Given the description of an element on the screen output the (x, y) to click on. 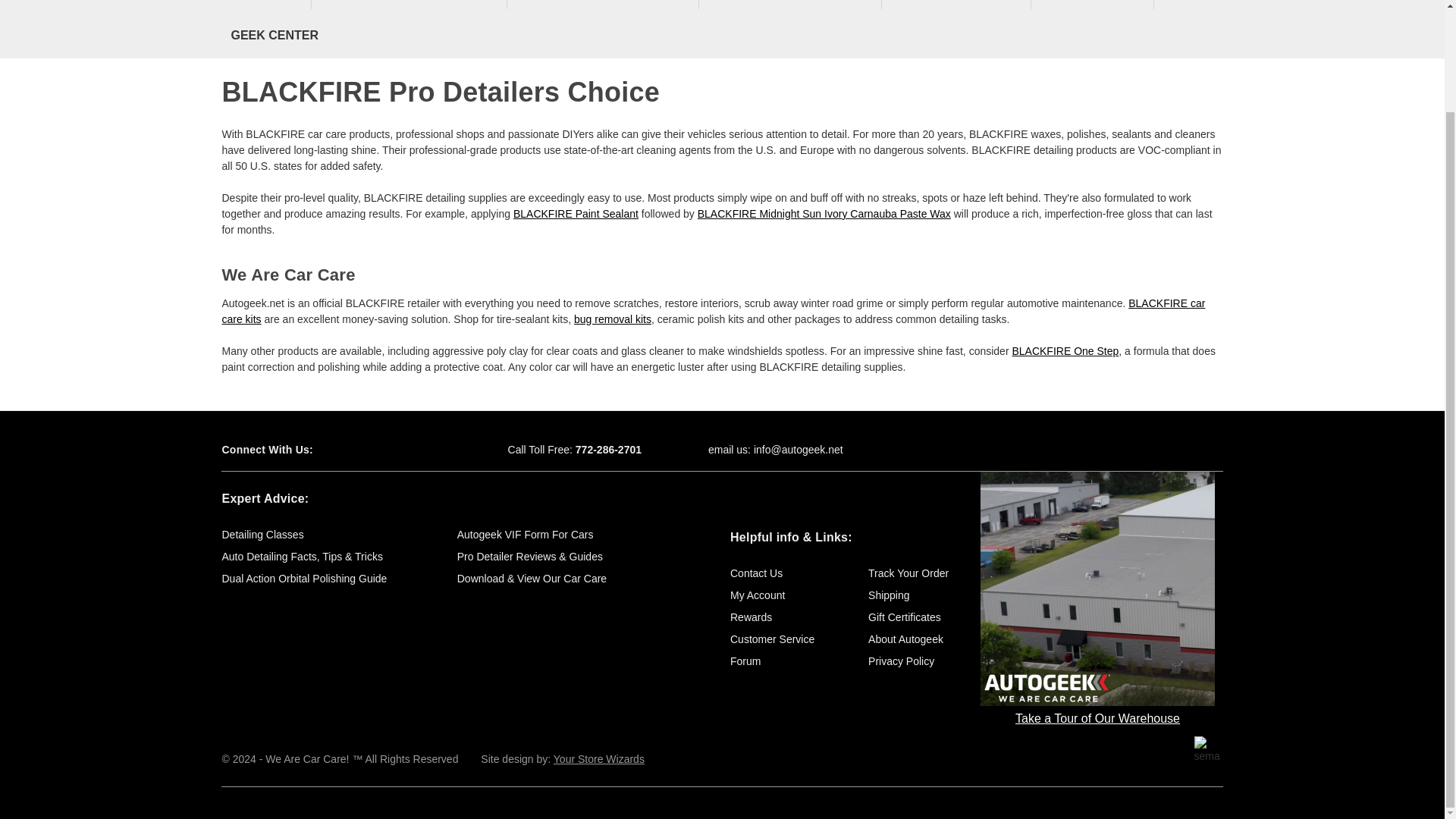
Twitter (379, 449)
Youtube (405, 449)
SHOP BY (266, 6)
Facebook (351, 449)
Instagram (433, 449)
